Given the description of an element on the screen output the (x, y) to click on. 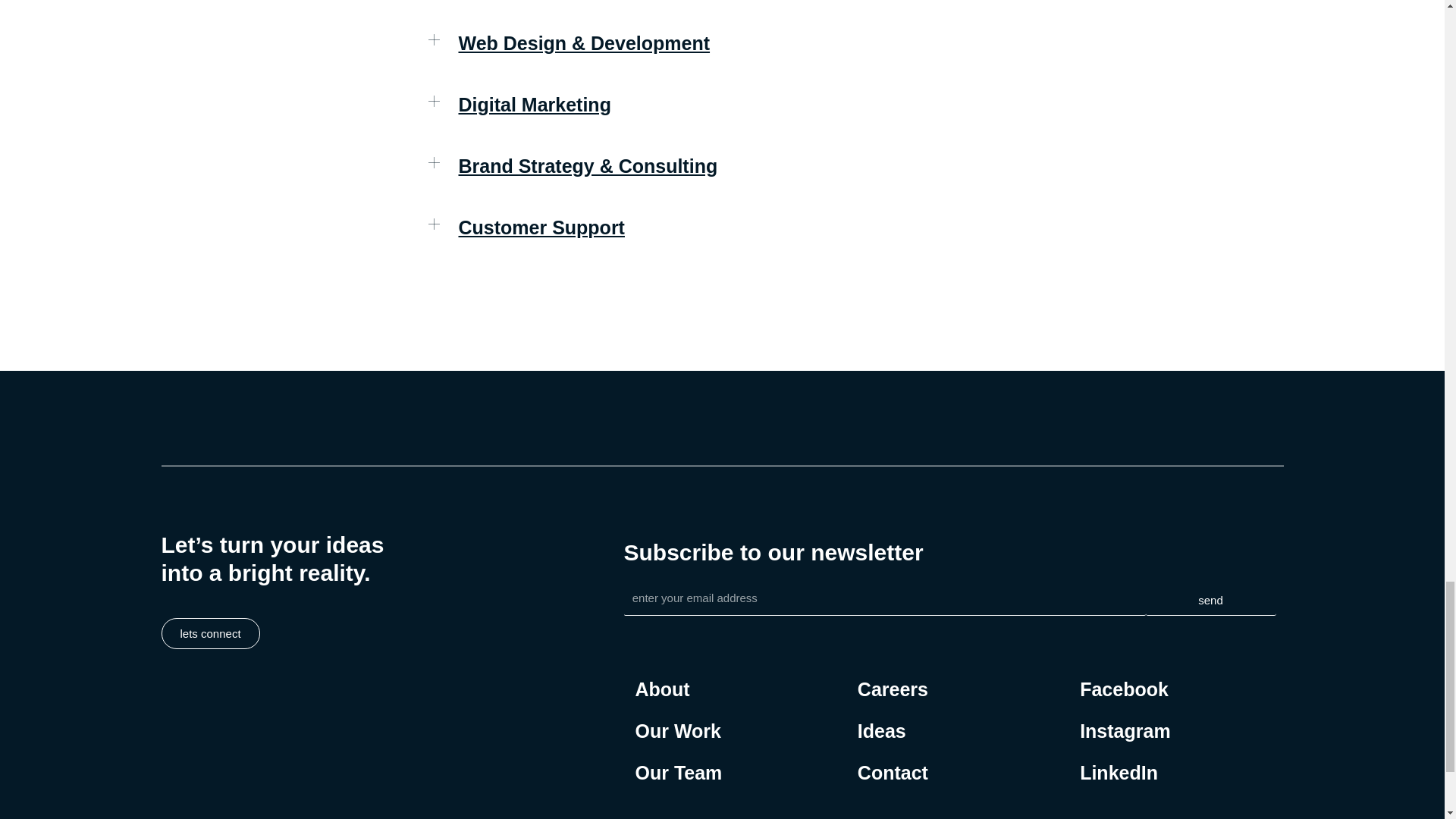
LinkedIn (1124, 772)
send (1209, 600)
Careers (892, 689)
Facebook (1124, 689)
Digital Marketing (534, 104)
lets connect (209, 633)
Our Work (678, 731)
Contact (892, 772)
Instagram (1124, 731)
Customer Support (541, 227)
About (678, 689)
Our Team (678, 772)
Ideas (892, 731)
